Given the description of an element on the screen output the (x, y) to click on. 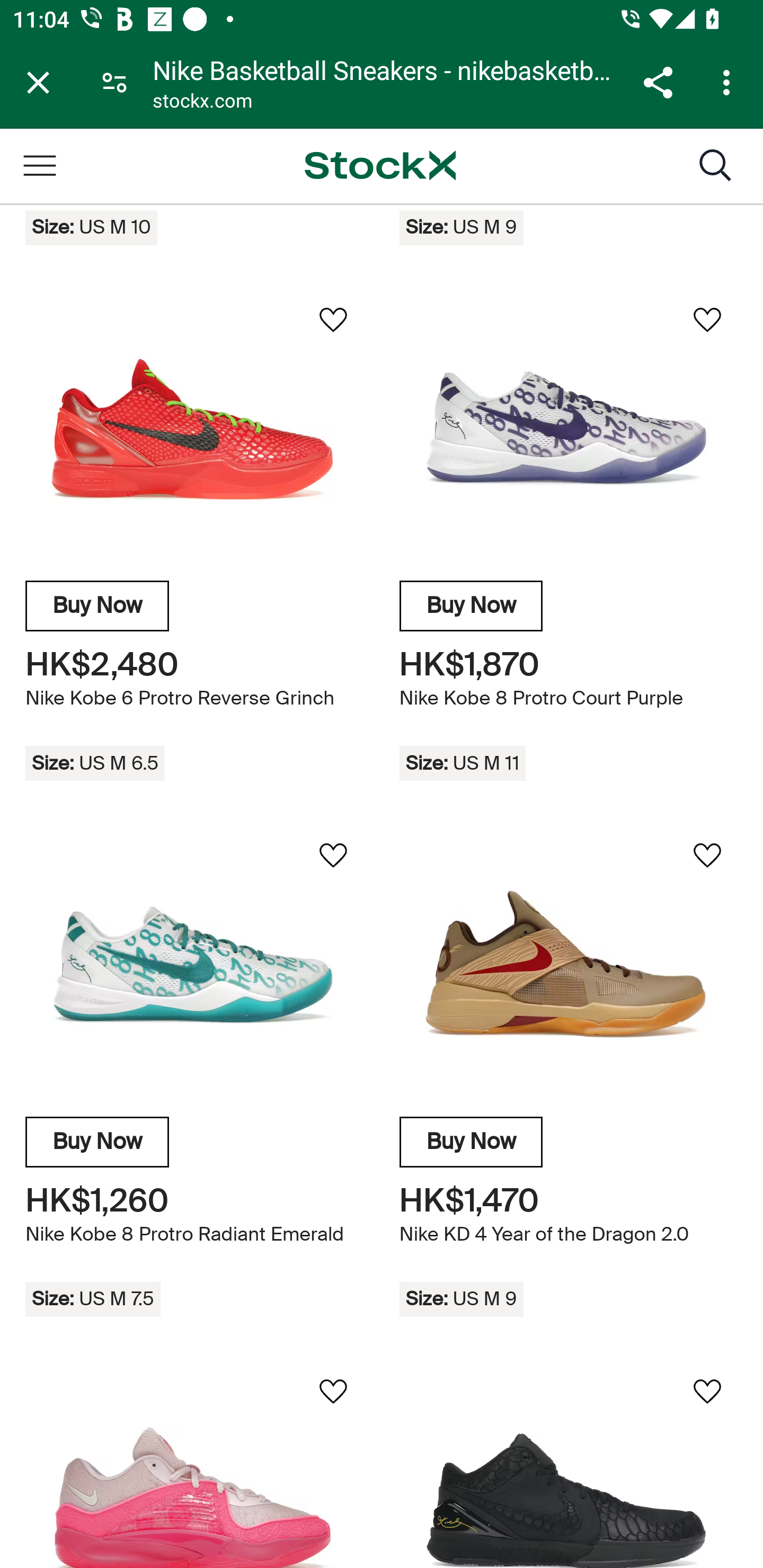
Close tab (38, 82)
Share (657, 82)
Customize and control Google Chrome (729, 82)
Connection is secure (114, 81)
stockx.com (202, 103)
Toggle Navigation (39, 166)
StockX Logo (379, 166)
nike-kobe-6-protro-reverse-grinch?size=6 (194, 430)
nike-kobe-8-protro-court-purple?size=11 (568, 430)
Buy Now (97, 607)
Buy Now (471, 607)
nike-kobe-8-protro-radiant-emerald?size=7 (194, 965)
nike-kd-4-year-of-the-dragon-20?size=9 (568, 965)
Buy Now (97, 1142)
Buy Now (471, 1142)
nike-kd-16-aunt-pearl?size=9 (194, 1465)
nike-kobe-4-protro-gift-of-mamba?size=10 (568, 1465)
